Given the description of an element on the screen output the (x, y) to click on. 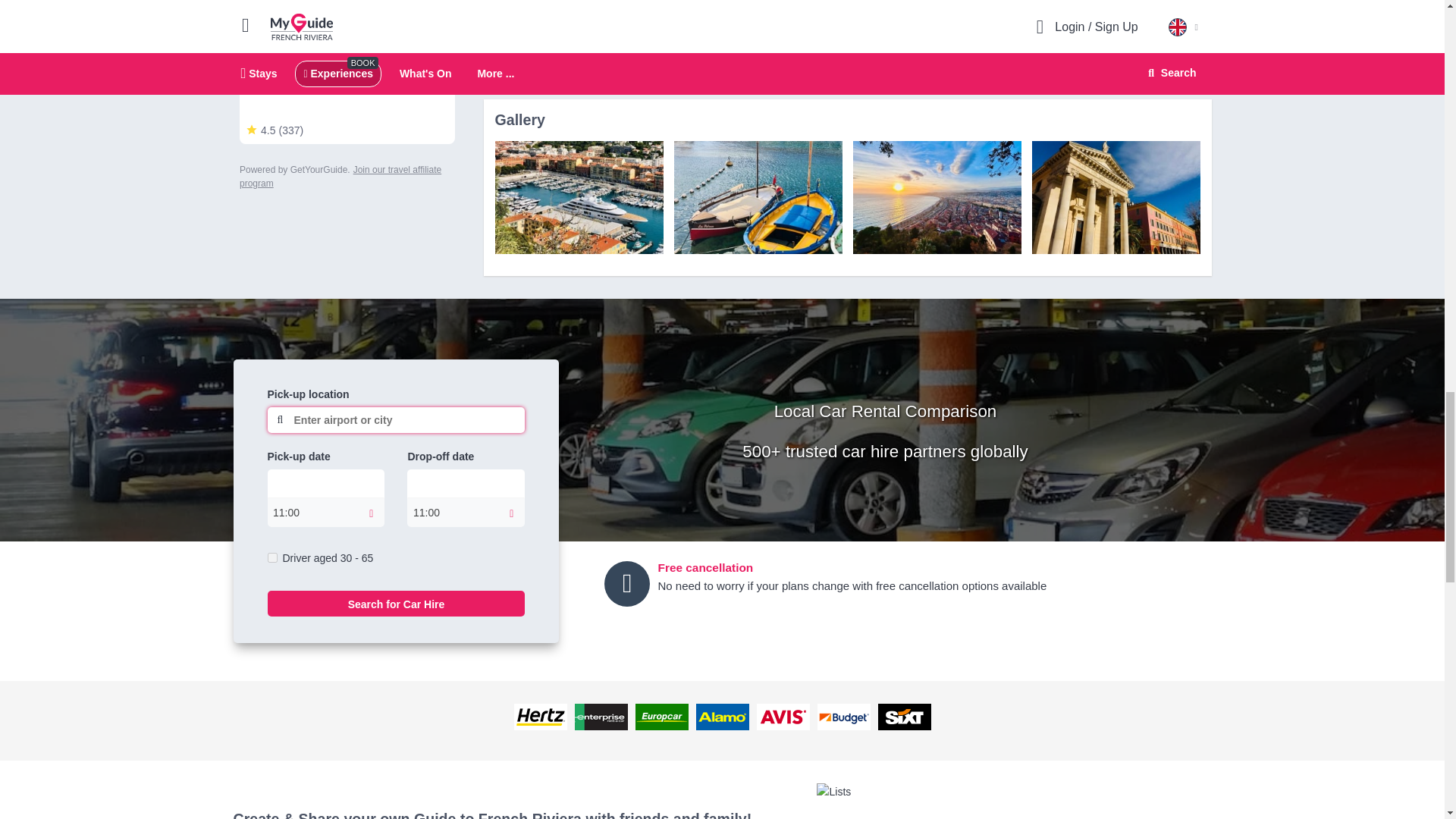
on (271, 557)
Nice: Guided Walking Tour (1114, 196)
Nice: Guided Walking Tour (935, 196)
Nice: Guided Walking Tour (578, 196)
GetYourGuide Widget (346, 100)
Nice: Guided Walking Tour (756, 196)
